Given the description of an element on the screen output the (x, y) to click on. 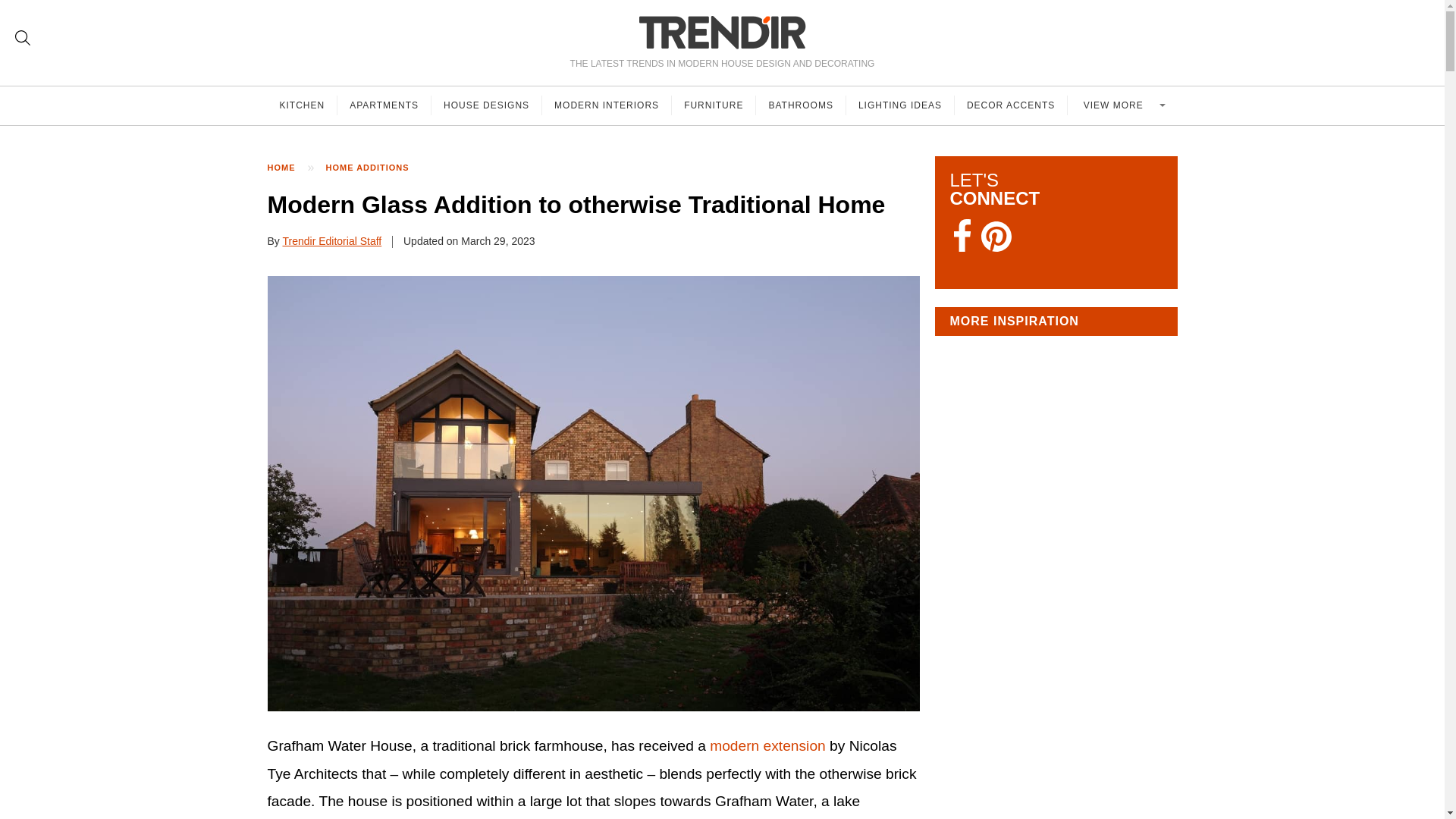
APARTMENTS (383, 105)
HOUSE DESIGNS (485, 105)
LIGHTING IDEAS (900, 105)
HOME ADDITIONS (375, 167)
Trendir Pinterest (995, 237)
BATHROOMS (800, 105)
Trendir Home (722, 32)
Home Additions (375, 167)
Trendir Editorial Staff (331, 241)
Search (22, 37)
